Given the description of an element on the screen output the (x, y) to click on. 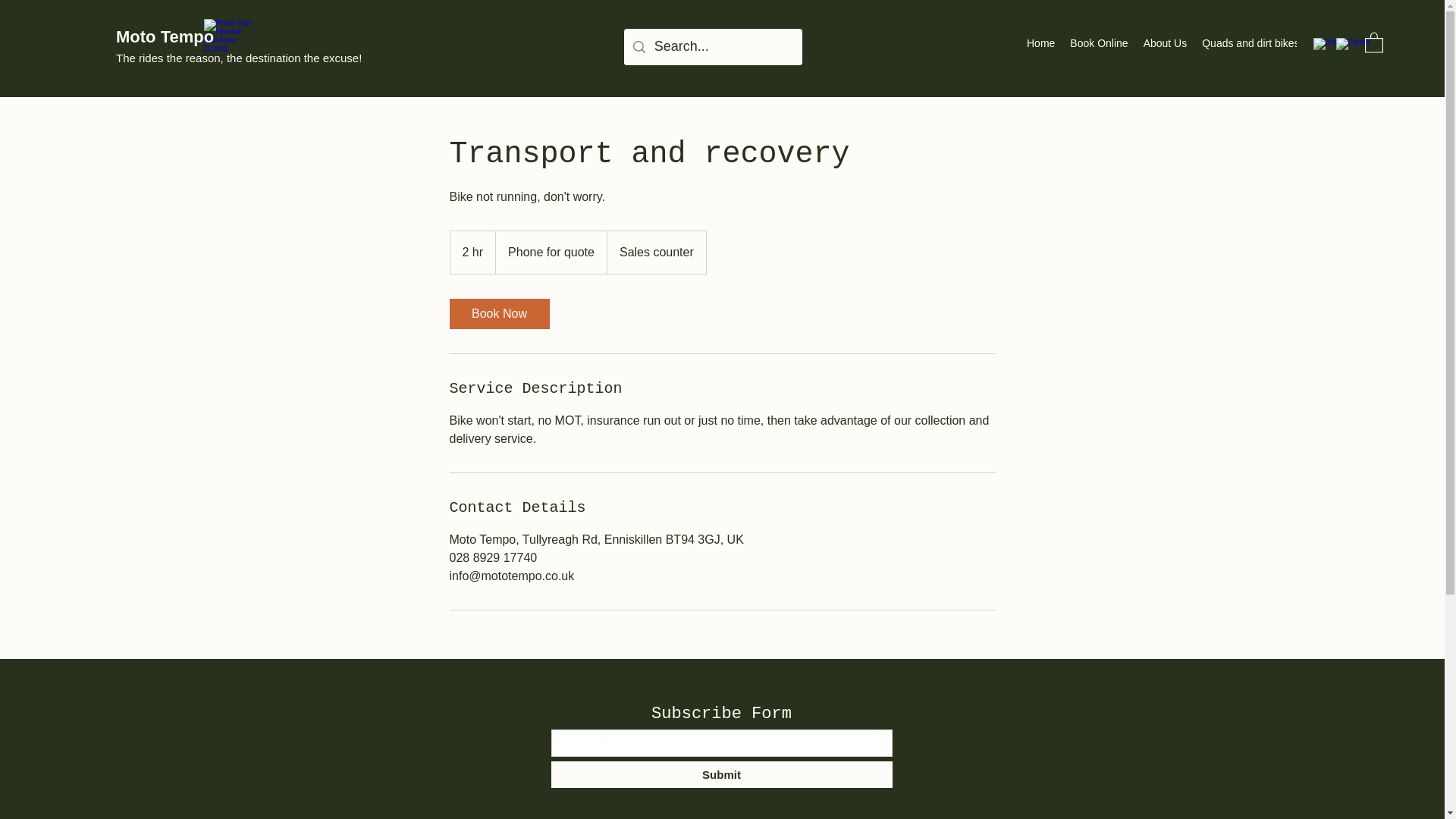
Book Online (1098, 45)
About Us (1165, 45)
Quads and dirt bikes (1249, 45)
Book Now (498, 313)
Home (1040, 45)
Moto Tempo (165, 36)
Submit (720, 774)
